Given the description of an element on the screen output the (x, y) to click on. 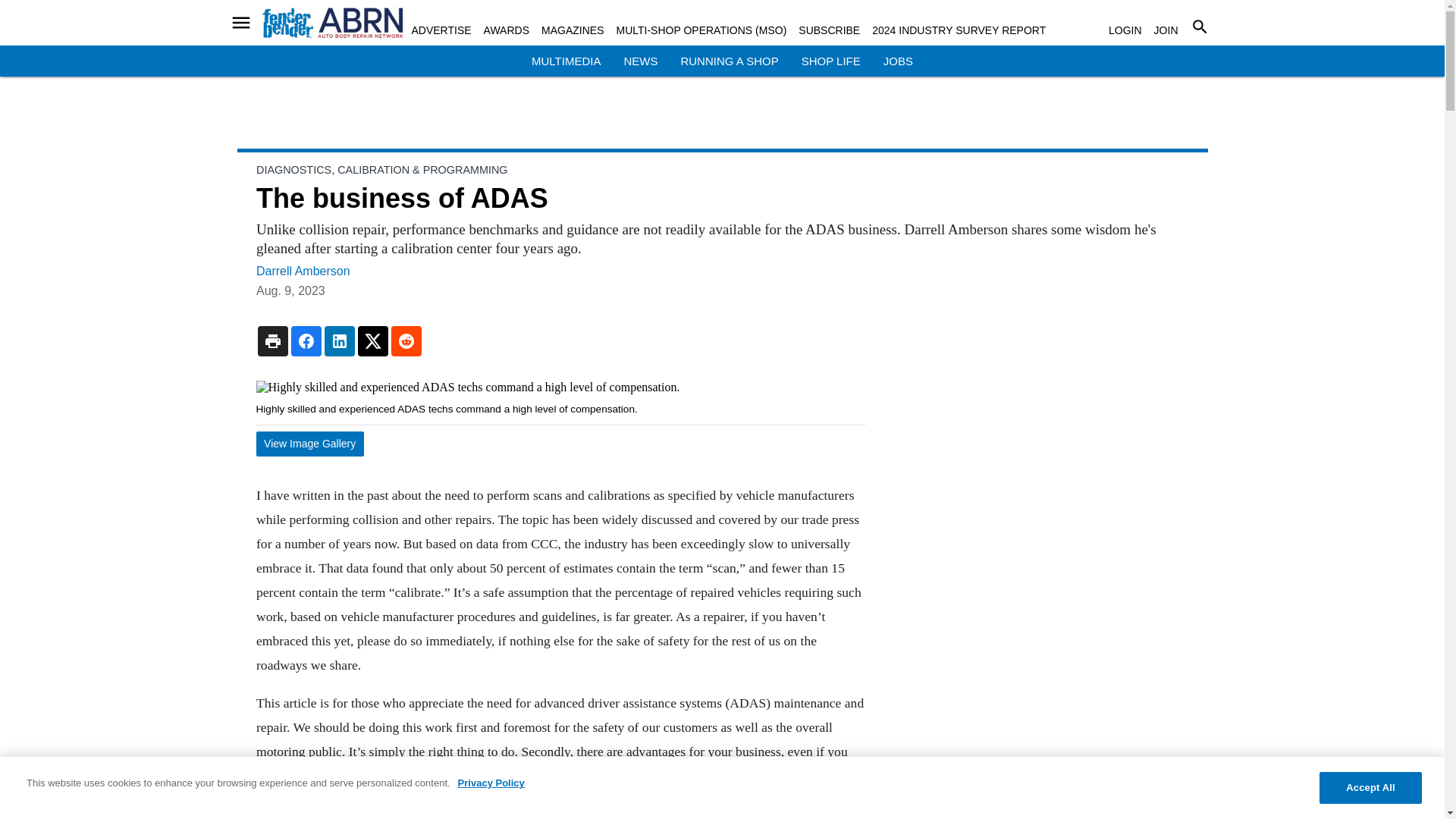
2024 INDUSTRY SURVEY REPORT (958, 30)
SUBSCRIBE (828, 30)
MAGAZINES (572, 30)
JOBS (897, 60)
NEWS (640, 60)
MULTIMEDIA (565, 60)
RUNNING A SHOP (728, 60)
ADVERTISE (440, 30)
JOIN (1165, 30)
